Given the description of an element on the screen output the (x, y) to click on. 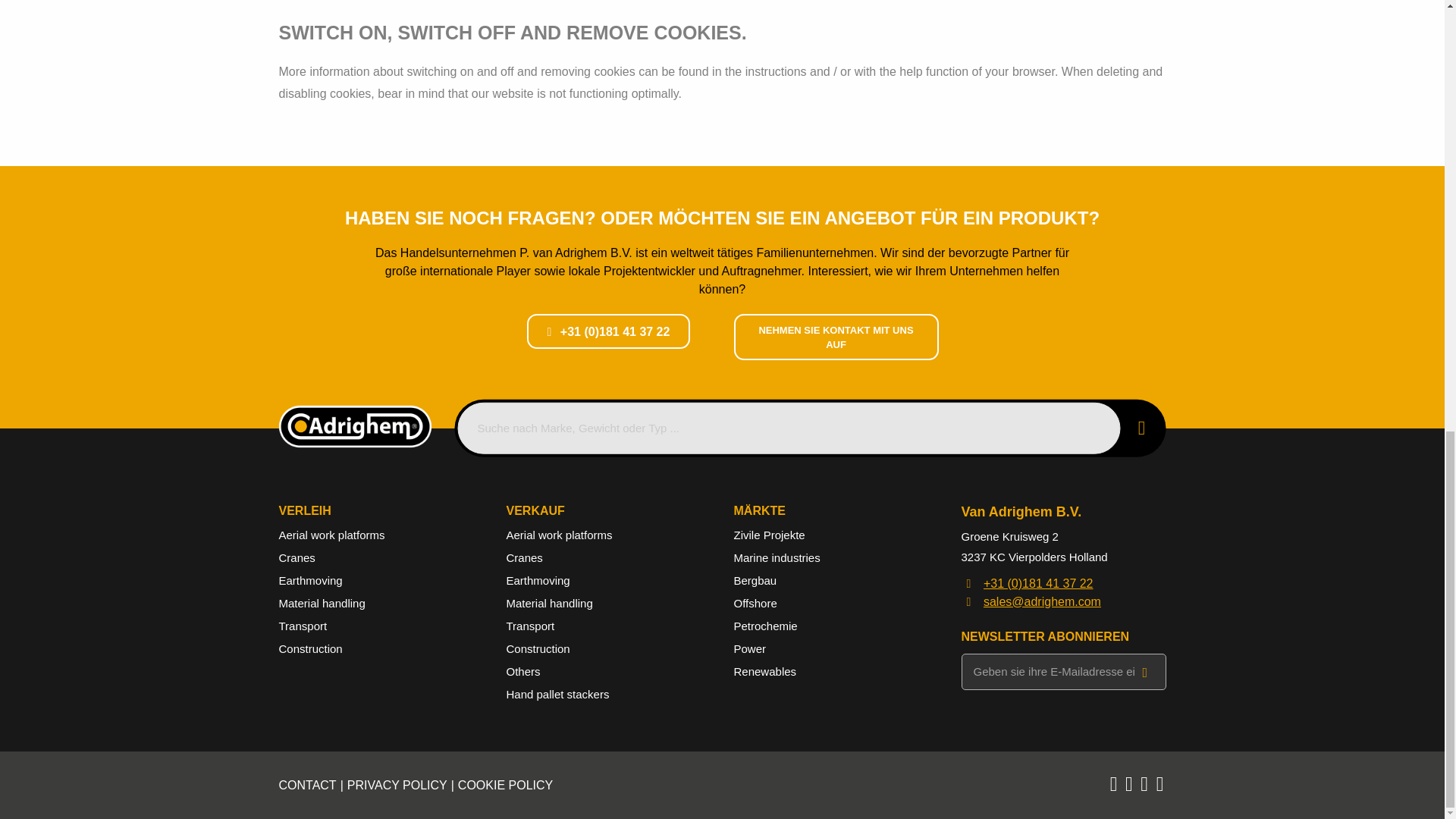
Construction (310, 648)
Hand pallet stackers (558, 694)
Aerial work platforms (559, 534)
Material handling (322, 603)
Cranes (297, 557)
NEHMEN SIE KONTAKT MIT UNS AUF (836, 336)
Others (523, 671)
Transport (530, 625)
Offshore (755, 603)
Earthmoving (538, 580)
